Given the description of an element on the screen output the (x, y) to click on. 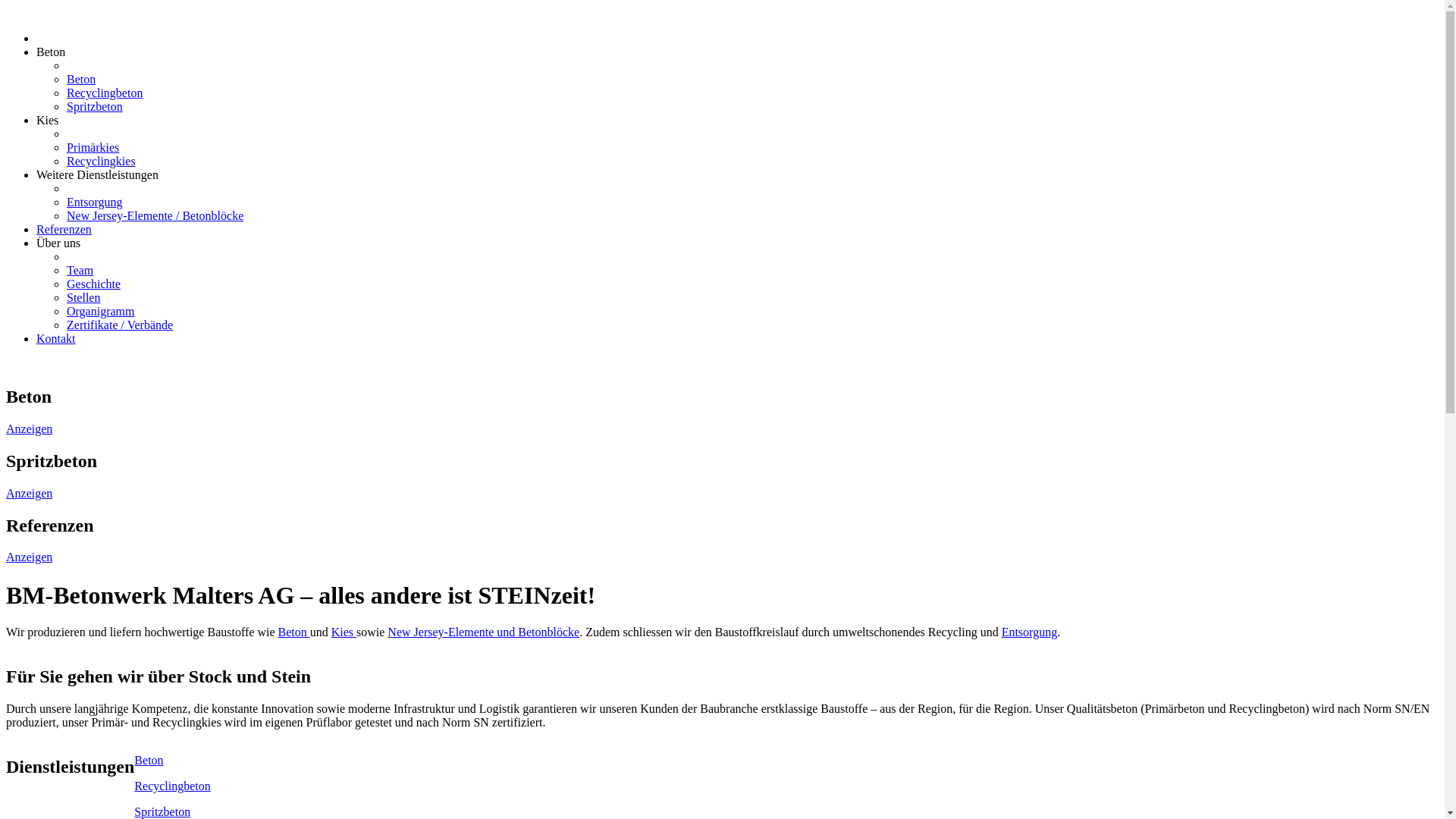
Geschichte Element type: text (93, 283)
Kies Element type: text (47, 119)
Kontakt Element type: text (55, 338)
Spritzbeton Element type: text (94, 106)
Recyclingbeton Element type: text (104, 92)
Beton Element type: text (50, 51)
Kies Element type: text (343, 631)
Team Element type: text (79, 269)
Anzeigen Element type: text (29, 492)
Beton Element type: text (148, 759)
Recyclingbeton Element type: text (172, 785)
Stellen Element type: text (83, 297)
Weitere Dienstleistungen Element type: text (97, 174)
Beton Element type: text (80, 78)
Anzeigen Element type: text (29, 428)
Anzeigen Element type: text (29, 556)
Entsorgung Element type: text (1029, 631)
Beton Element type: text (293, 631)
Referenzen Element type: text (63, 228)
Recyclingkies Element type: text (100, 160)
Entsorgung Element type: text (94, 201)
Spritzbeton Element type: text (162, 811)
Organigramm Element type: text (100, 310)
